Given the description of an element on the screen output the (x, y) to click on. 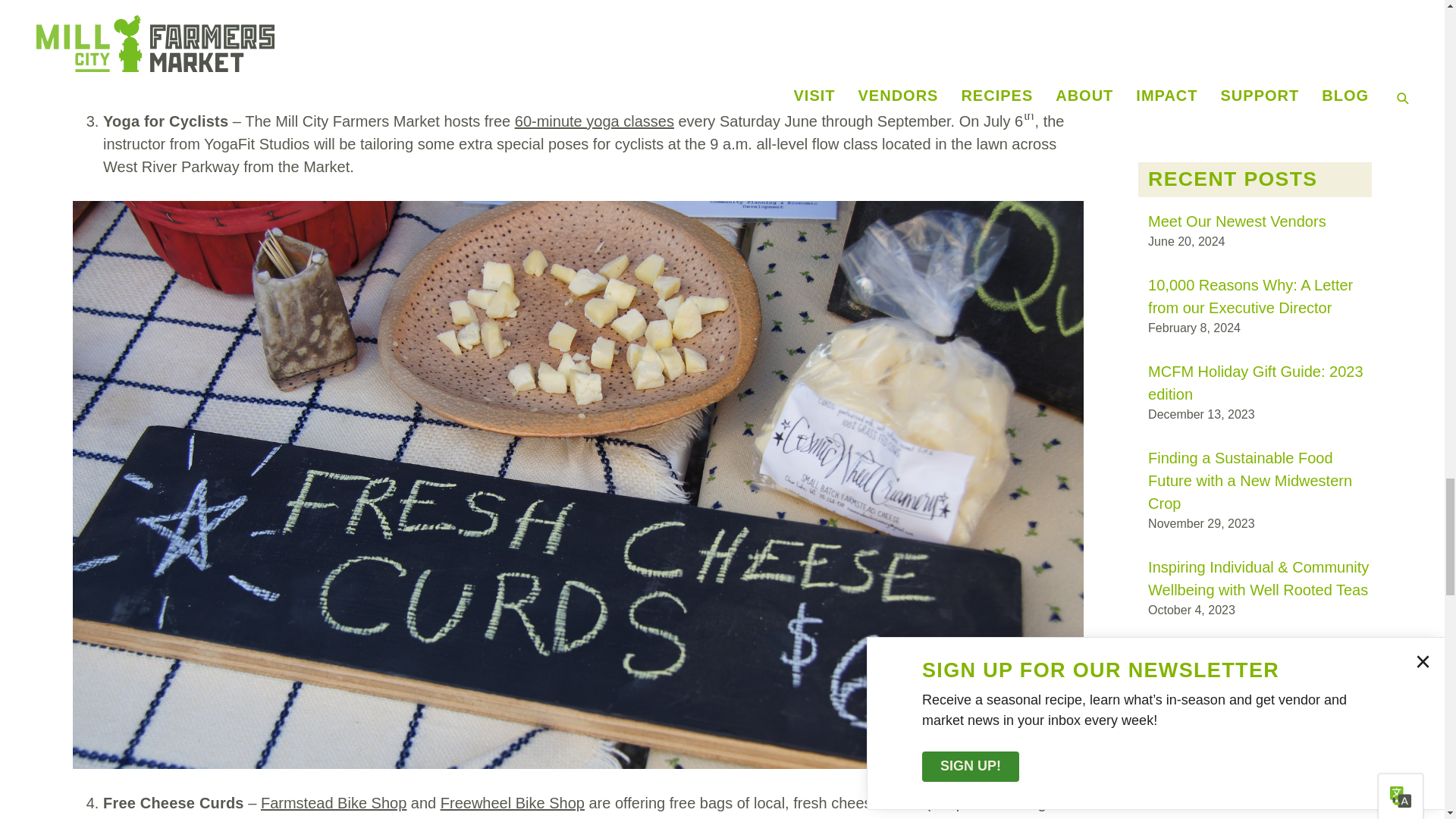
60-minute yoga classes (594, 121)
Freewheel Bike Shop (513, 802)
Farmstead Bike Shop (333, 802)
